Given the description of an element on the screen output the (x, y) to click on. 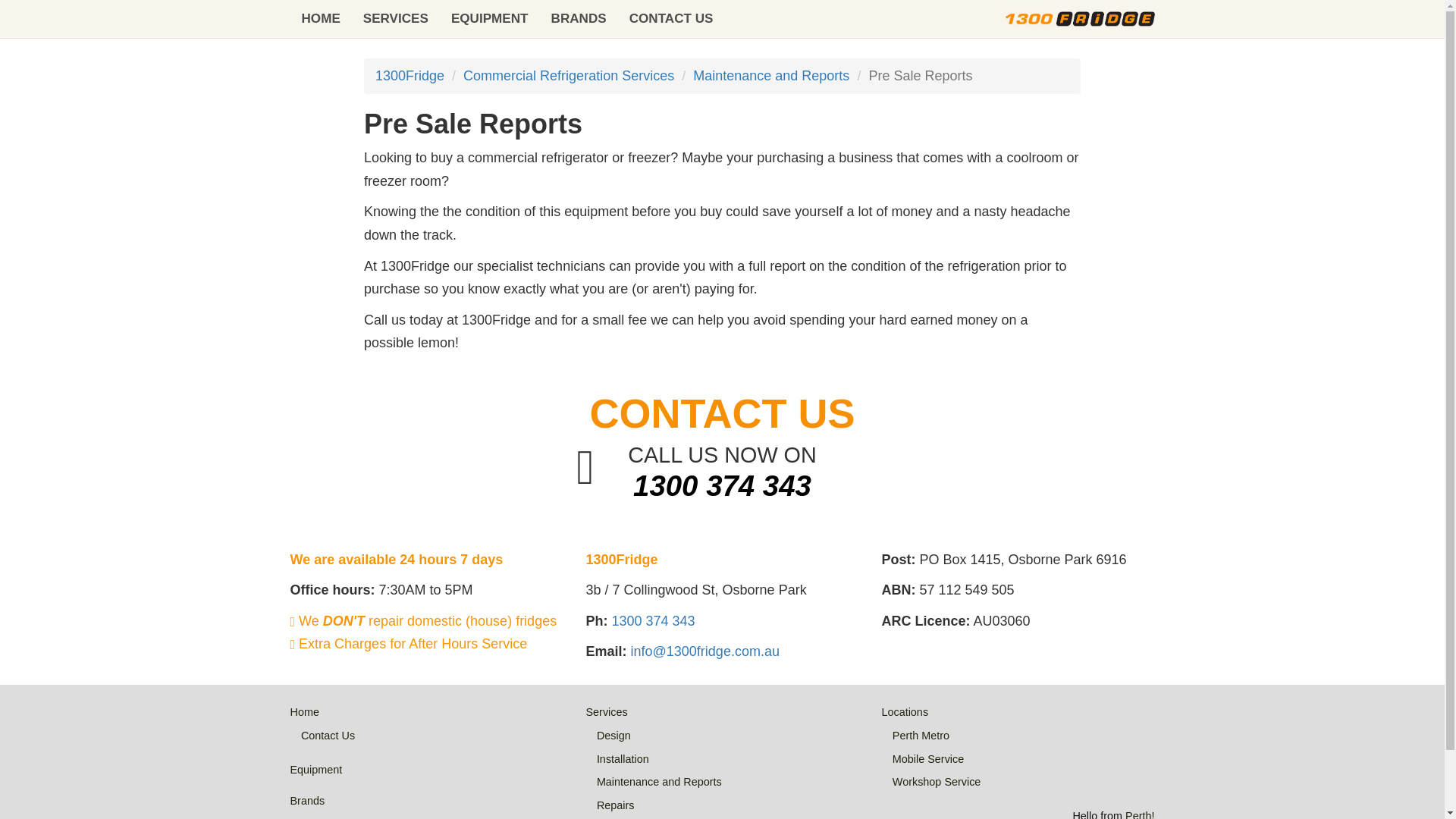
Design (613, 735)
Perth! (1139, 814)
Brands (306, 800)
Workshop Service (936, 781)
Mobile Service (927, 758)
1300Fridge (409, 75)
Installation (622, 758)
Locations (904, 711)
EQUIPMENT (489, 18)
HOME (319, 18)
SERVICES (395, 18)
Commercial Refrigeration Services (568, 75)
BRANDS (578, 18)
Perth Metro (920, 735)
Services (606, 711)
